Given the description of an element on the screen output the (x, y) to click on. 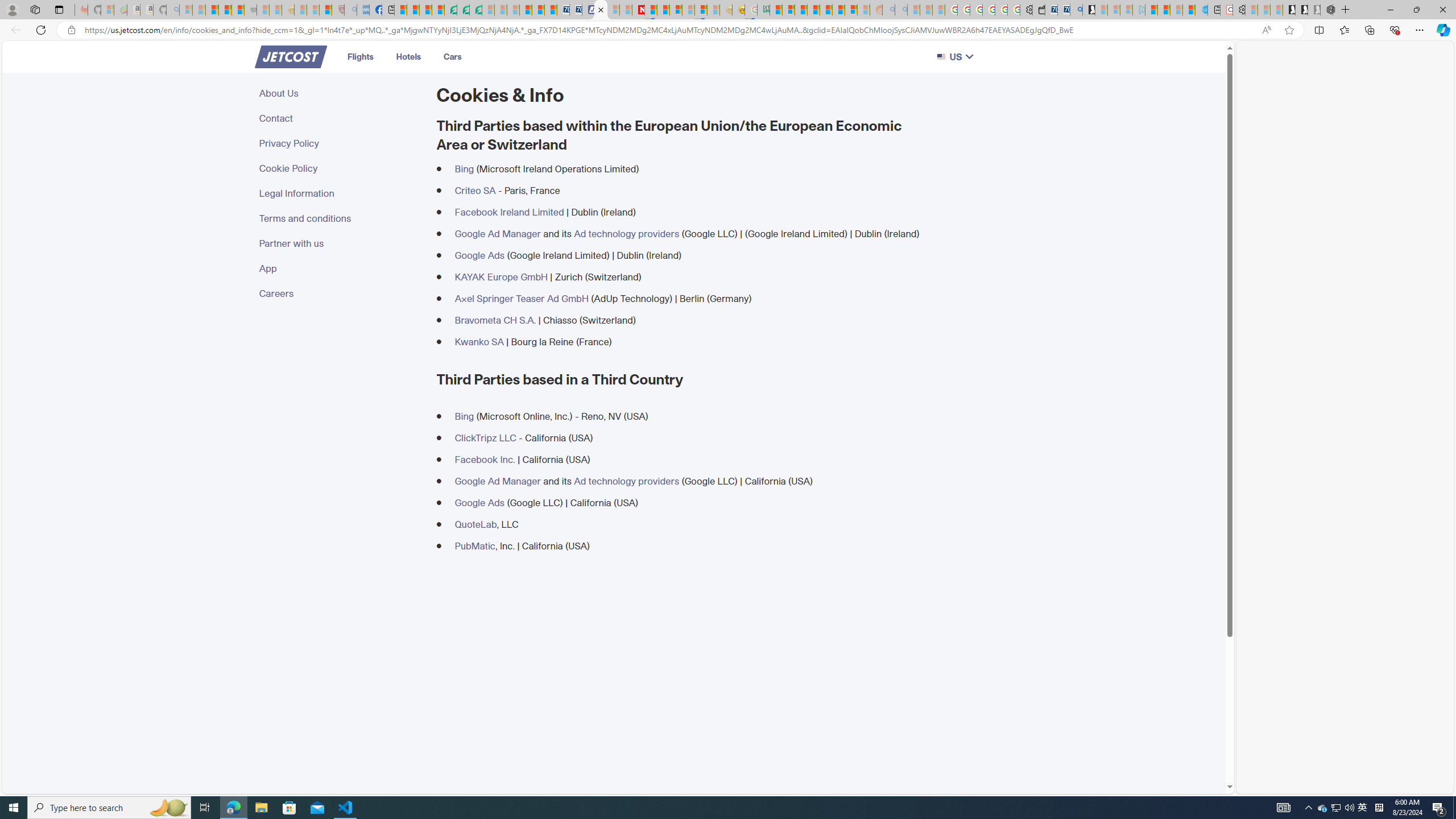
ClickTripz LLC (485, 437)
Hotels (408, 56)
Axel Springer Teaser Ad GmbH (521, 298)
